Given the description of an element on the screen output the (x, y) to click on. 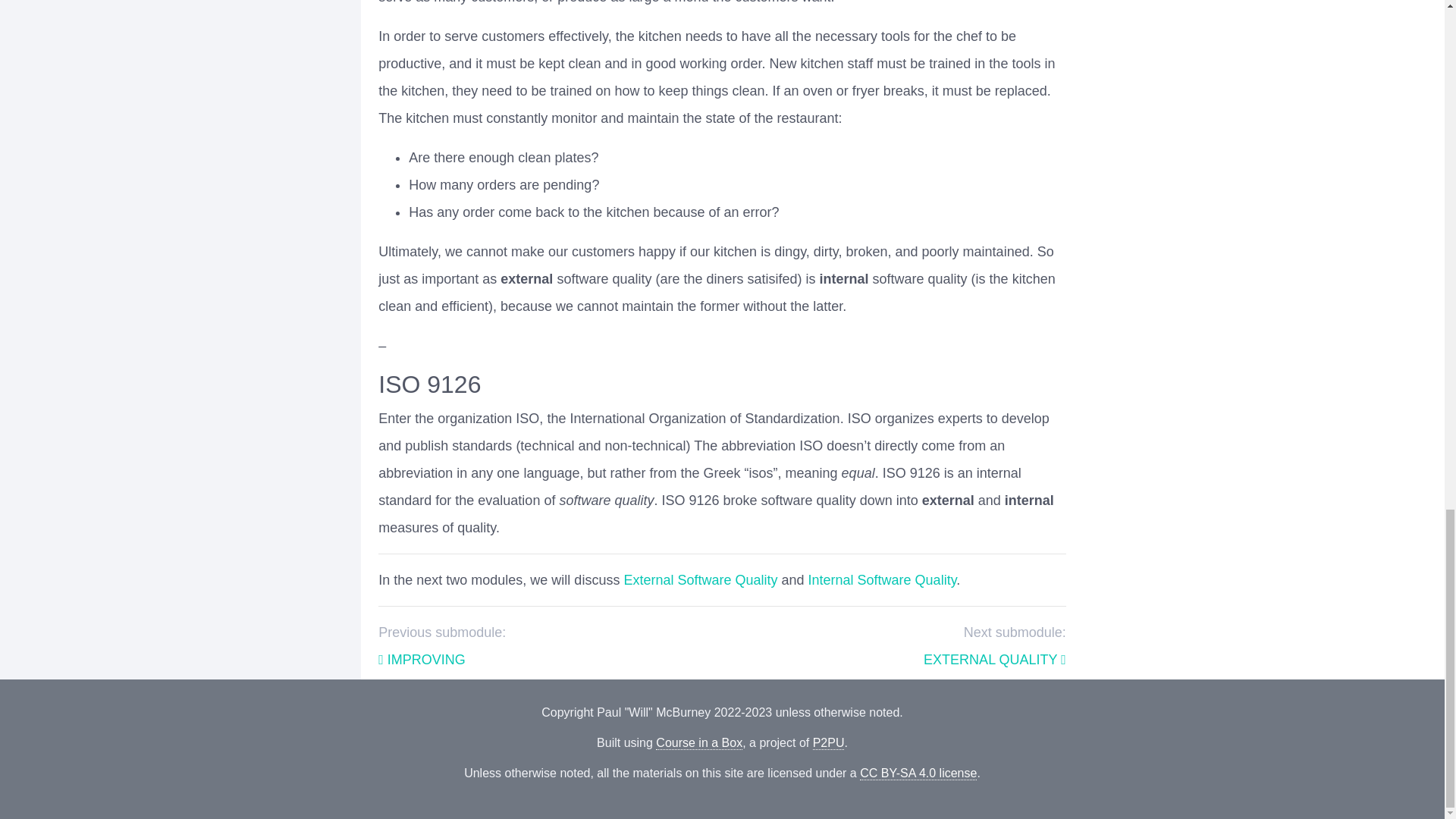
External Software Quality (700, 580)
Internal Software Quality (882, 580)
P2PU (828, 743)
CC BY-SA 4.0 license (918, 773)
Course in a Box (699, 743)
IMPROVING (421, 659)
EXTERNAL QUALITY (994, 659)
